Given the description of an element on the screen output the (x, y) to click on. 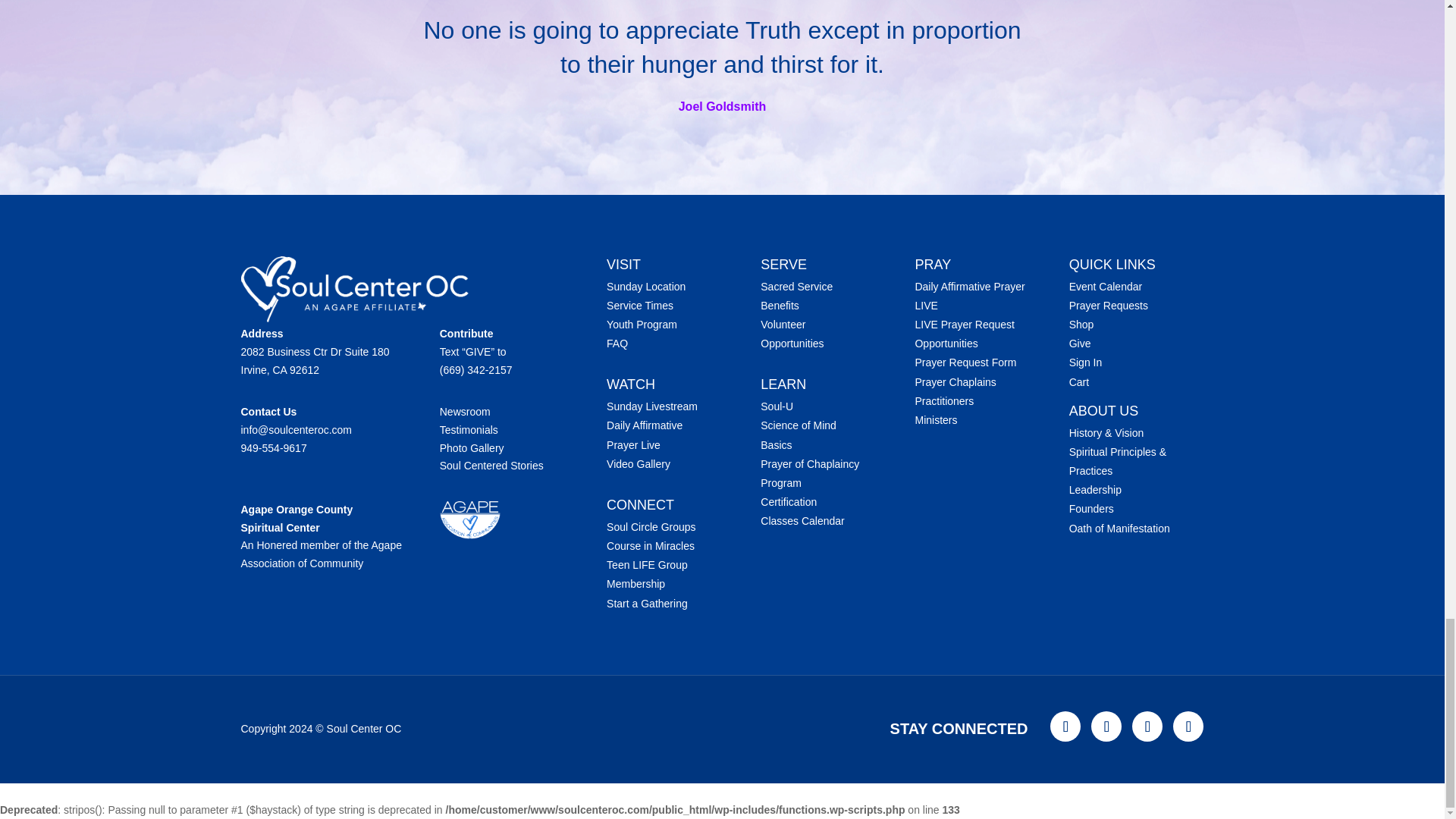
Follow on Facebook (1105, 726)
Group 125 (354, 289)
Follow on Youtube (1064, 726)
